Given the description of an element on the screen output the (x, y) to click on. 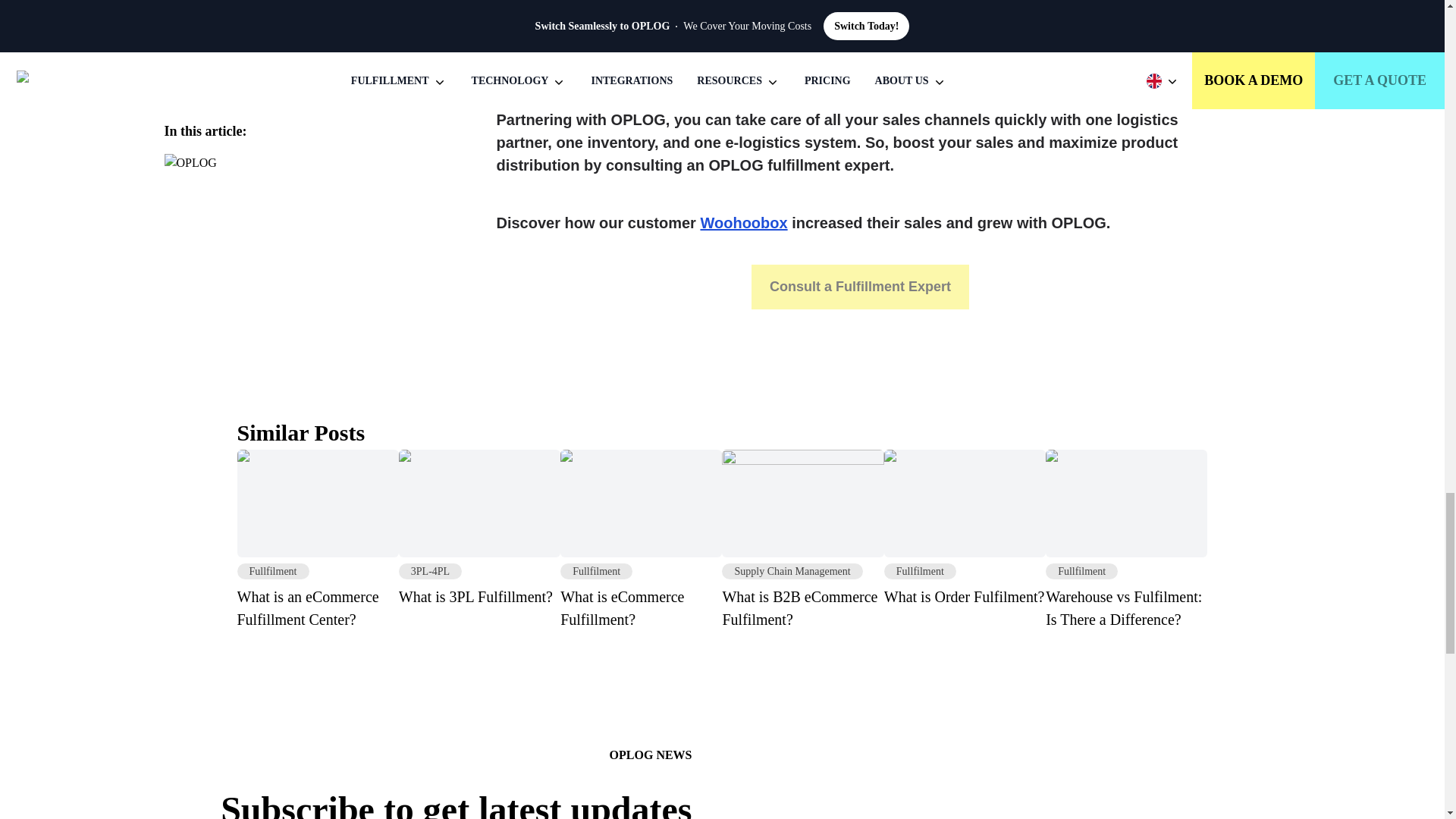
Woohoobox (641, 539)
Consult a Fulfillment Expert (479, 528)
